Given the description of an element on the screen output the (x, y) to click on. 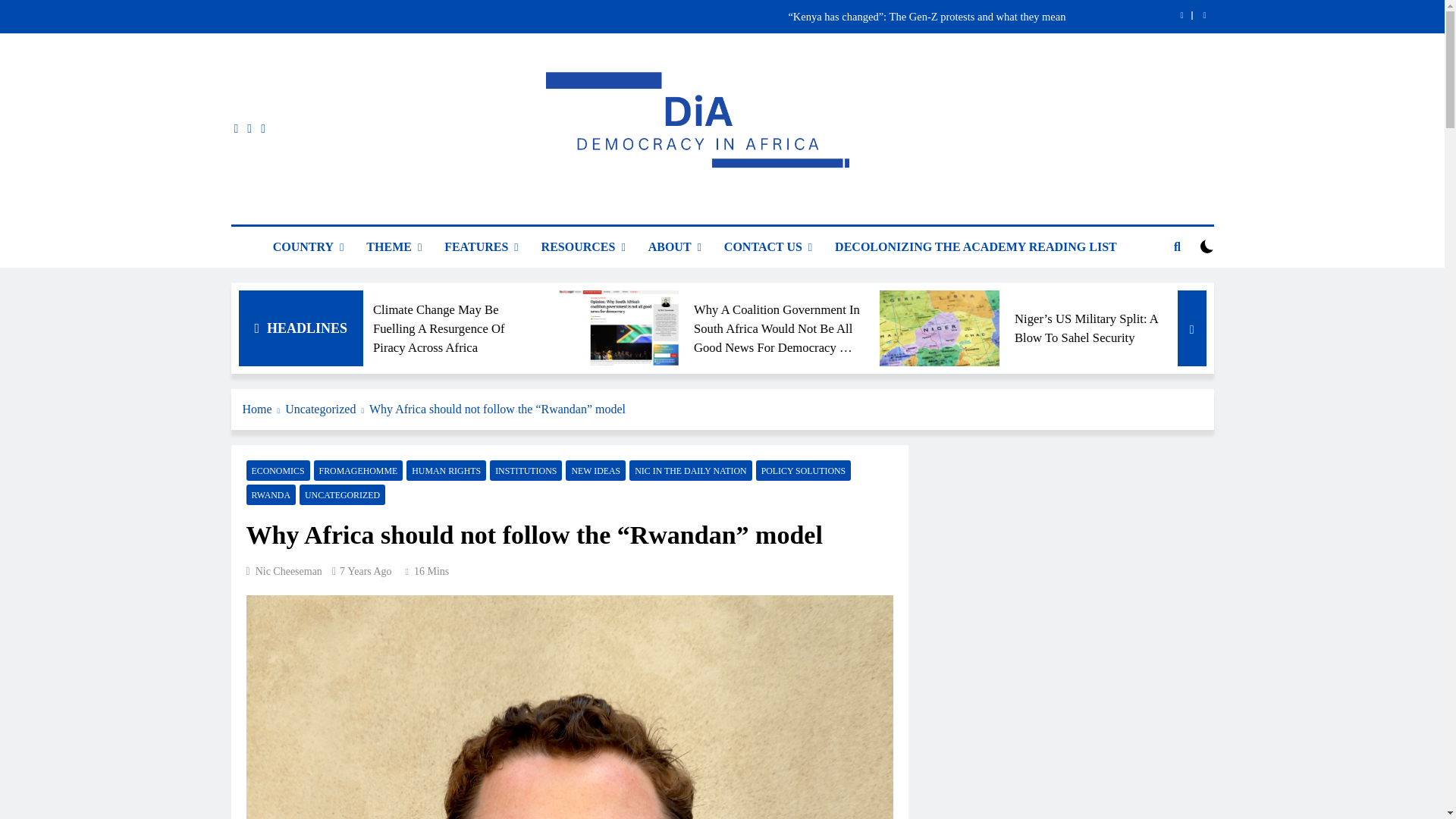
COUNTRY (308, 246)
on (1206, 246)
Democracy In Africa (583, 210)
